Given the description of an element on the screen output the (x, y) to click on. 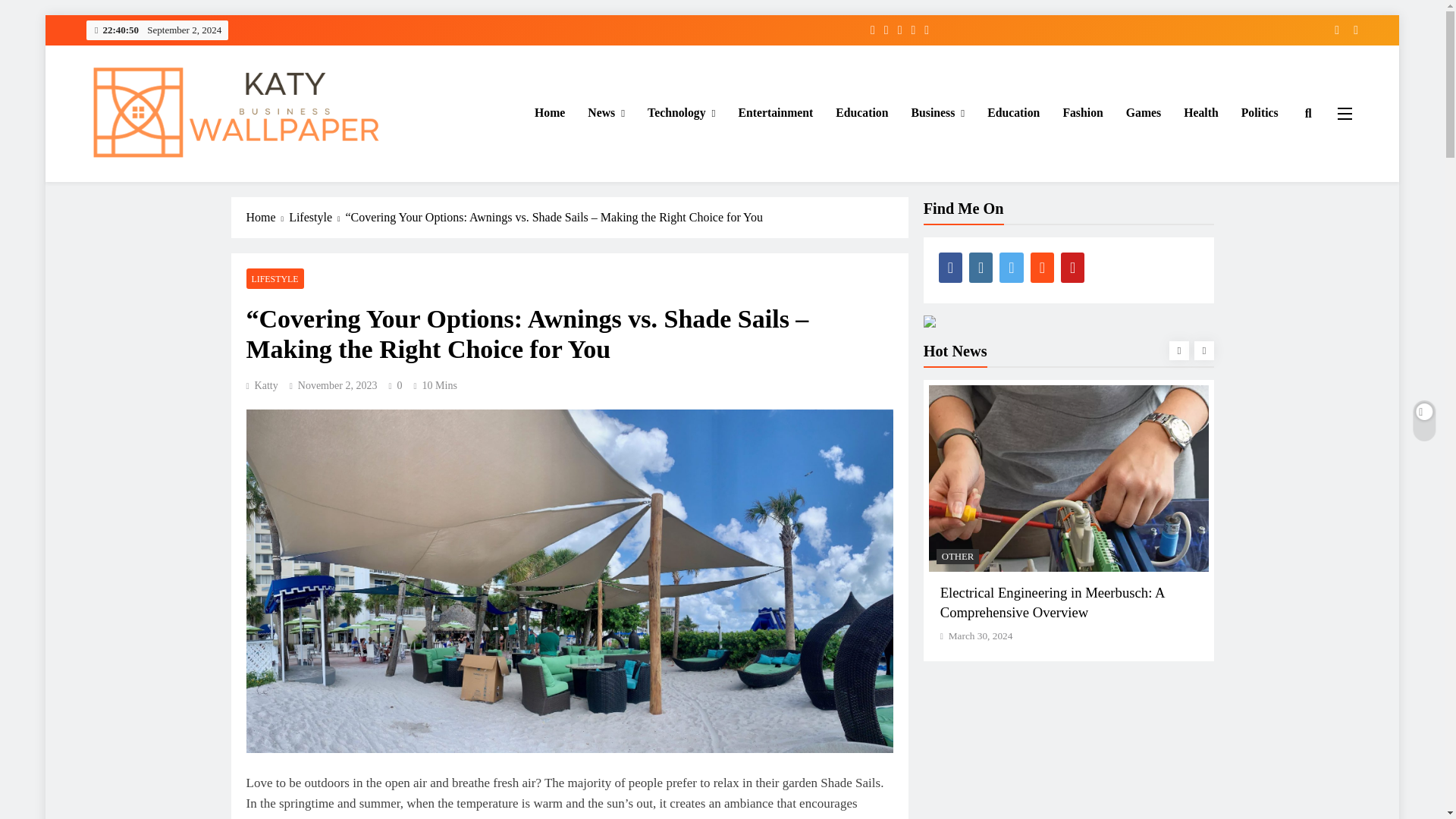
Fashion (1082, 112)
Technology (681, 113)
Home (549, 112)
Entertainment (775, 112)
Games (1143, 112)
Education (861, 112)
Health (1201, 112)
Education (1013, 112)
News (606, 113)
Politics (1260, 112)
